Given the description of an element on the screen output the (x, y) to click on. 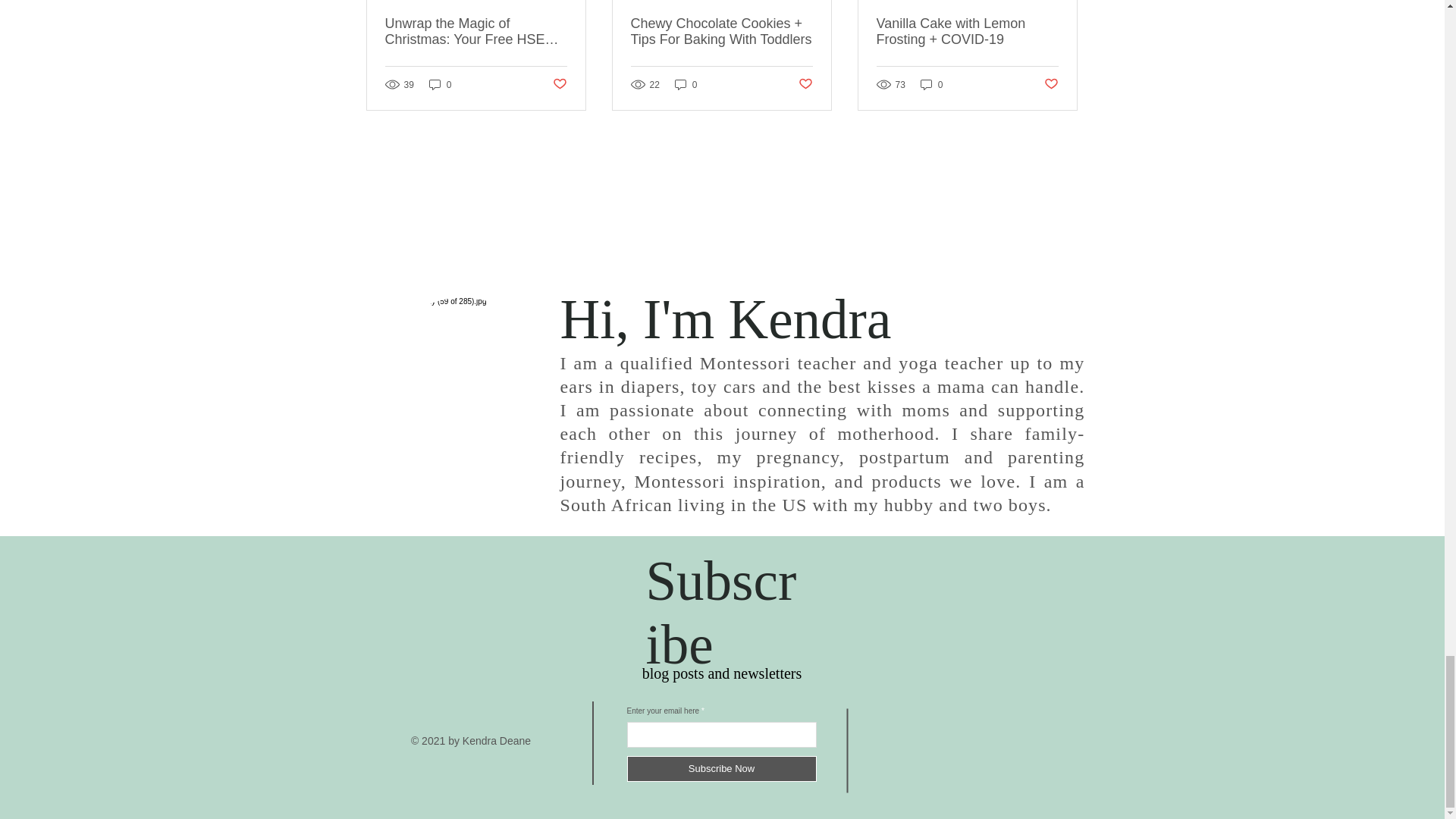
guy2.jpg (462, 379)
